Given the description of an element on the screen output the (x, y) to click on. 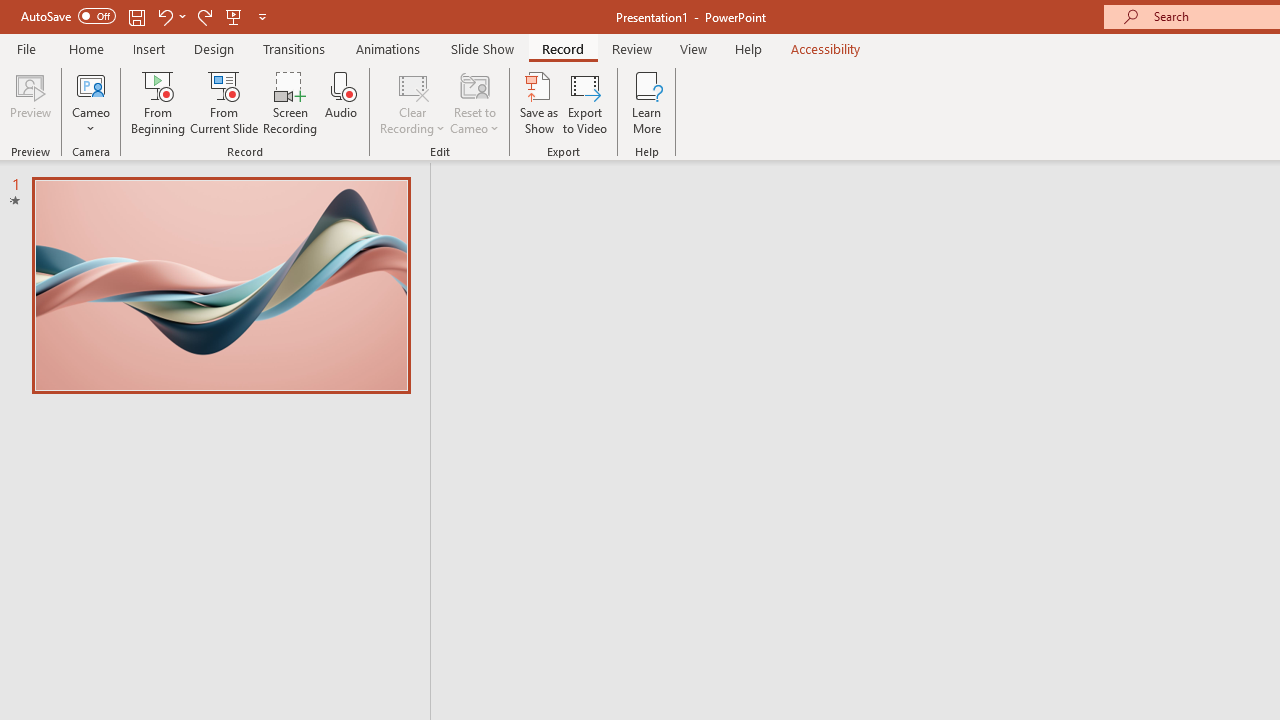
Preview (30, 102)
From Beginning... (158, 102)
From Current Slide... (224, 102)
Audio (341, 102)
Save as Show (539, 102)
Cameo (91, 102)
Cameo (91, 84)
